Given the description of an element on the screen output the (x, y) to click on. 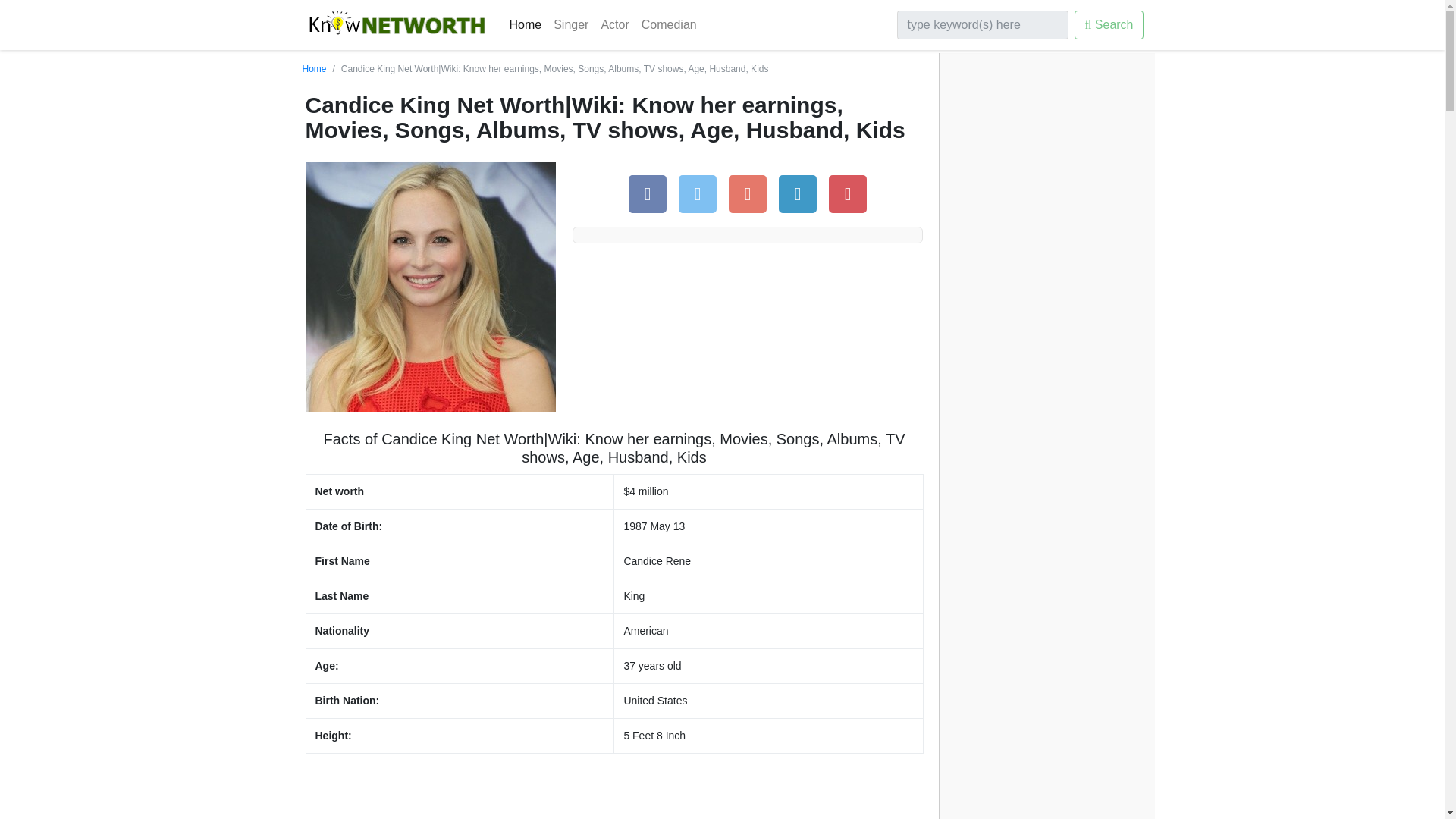
Home (313, 68)
Advertisement (613, 792)
Comedian (668, 24)
Singer (570, 24)
Actor (614, 24)
Search (1108, 24)
